Given the description of an element on the screen output the (x, y) to click on. 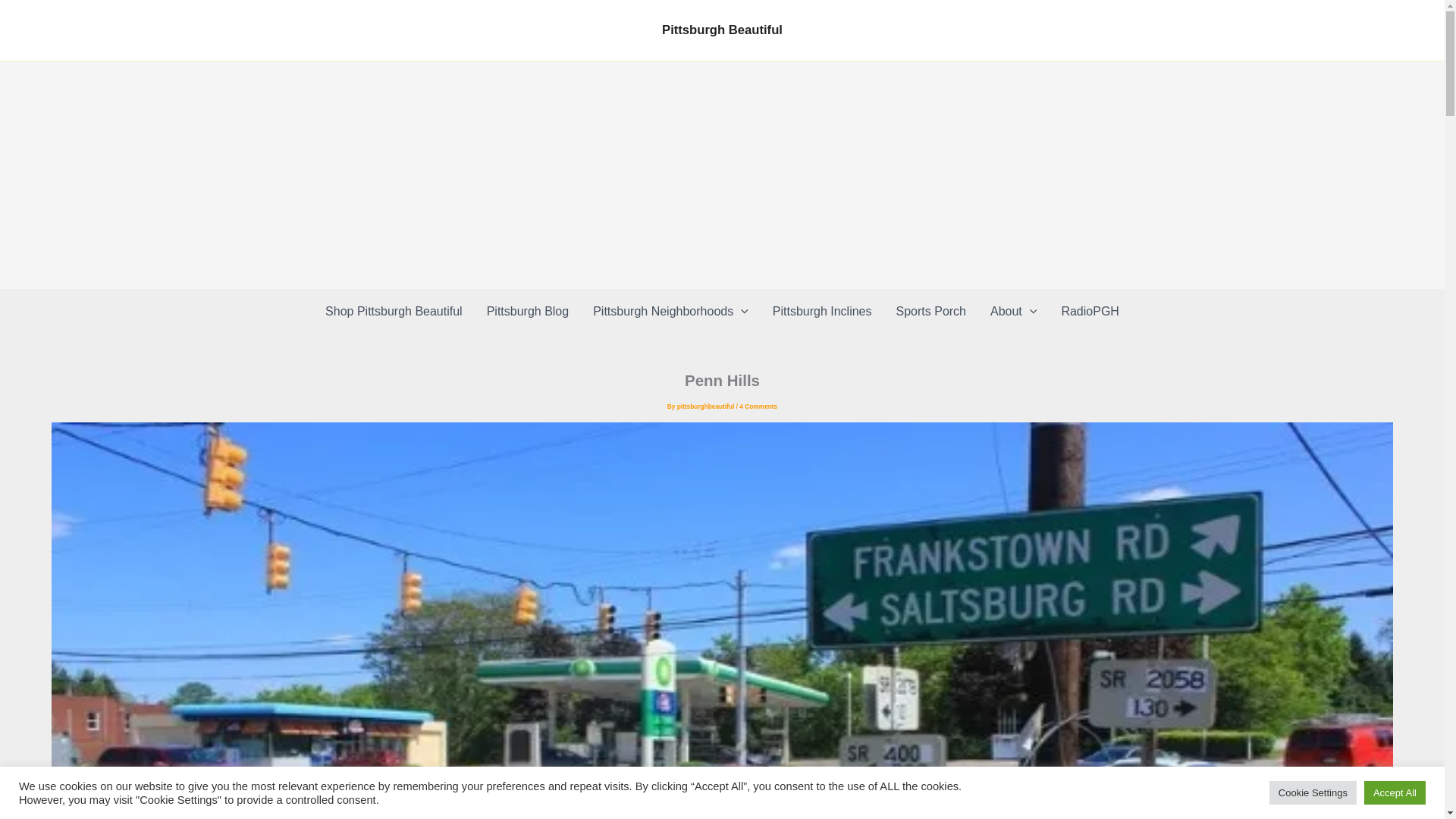
View all posts by pittsburghbeautiful (706, 406)
RadioPGH (1089, 311)
About (1013, 311)
Shop Pittsburgh Beautiful (393, 311)
Pittsburgh Blog (527, 311)
Pittsburgh Neighborhoods (670, 311)
Pittsburgh Beautiful (722, 29)
Sports Porch (930, 311)
Pittsburgh Inclines (821, 311)
